Given the description of an element on the screen output the (x, y) to click on. 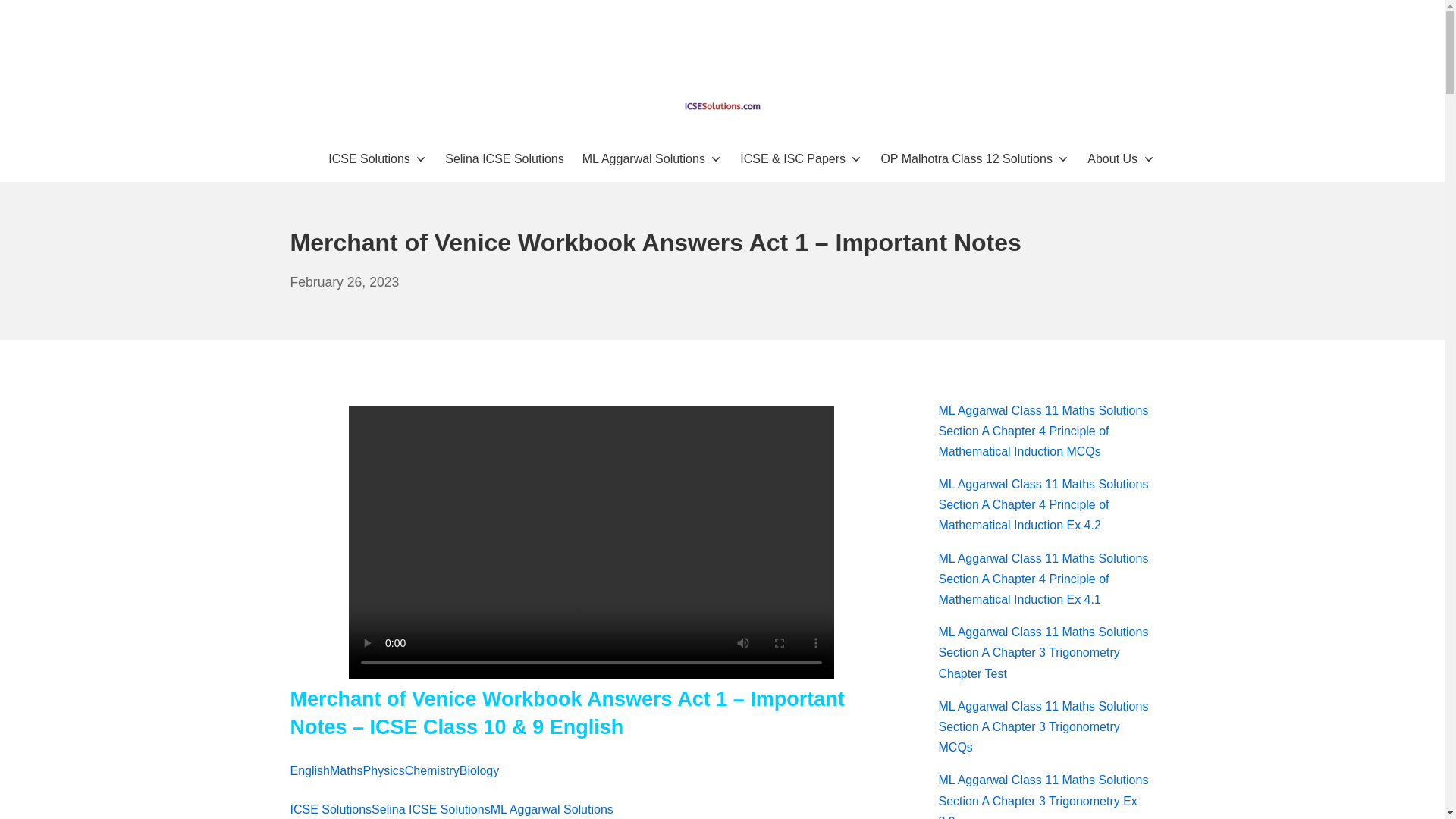
ICSE Solutions (377, 158)
Selina ICSE Solutions for Class 10 Maths (346, 770)
Selina ICSE Solutions for Class 10 Physics (383, 770)
Selina ICSE Solutions for Class 10 Chemistry (432, 770)
ICSE Solutions (722, 105)
